Given the description of an element on the screen output the (x, y) to click on. 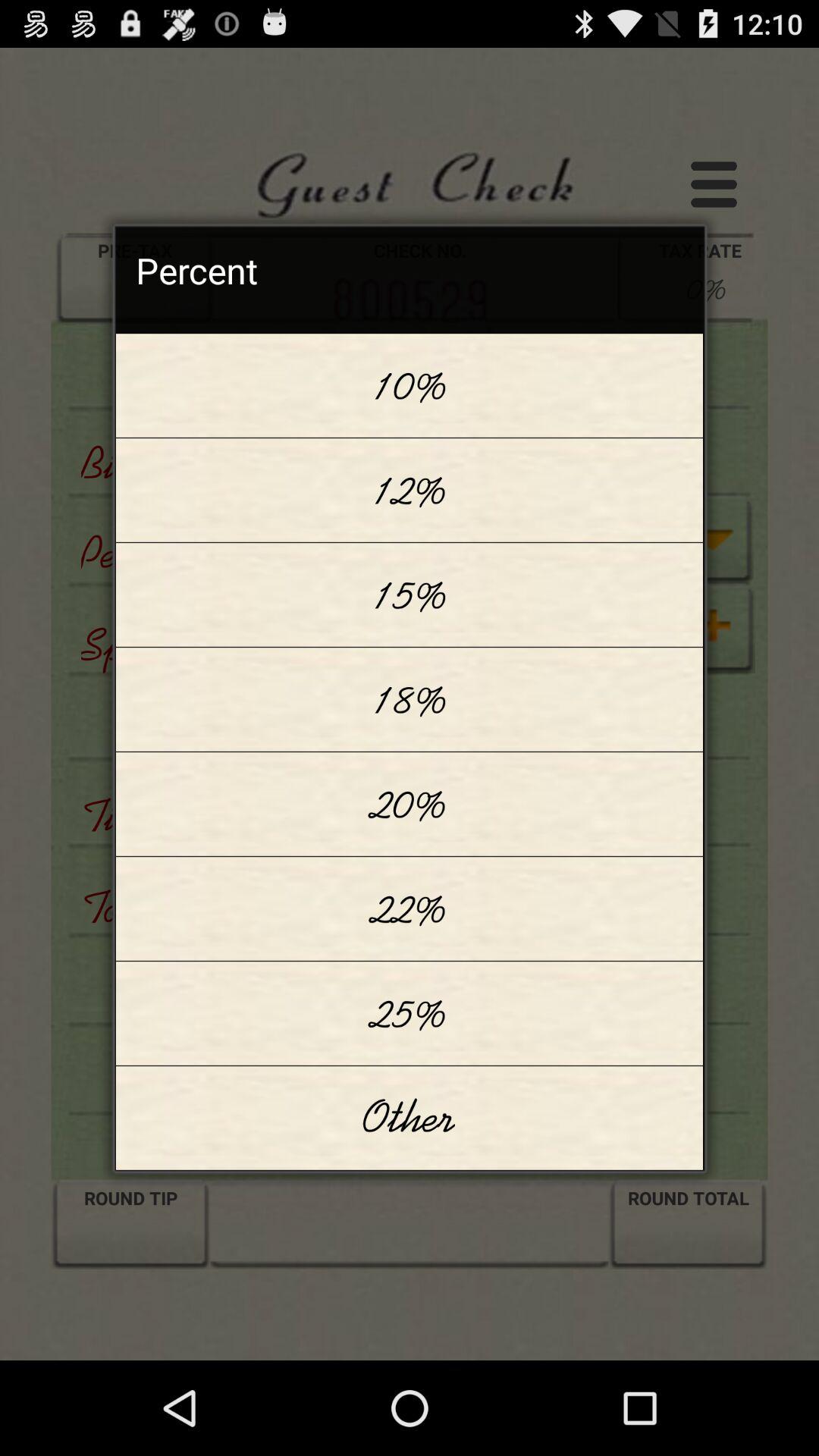
choose the icon below 25% app (409, 1117)
